Given the description of an element on the screen output the (x, y) to click on. 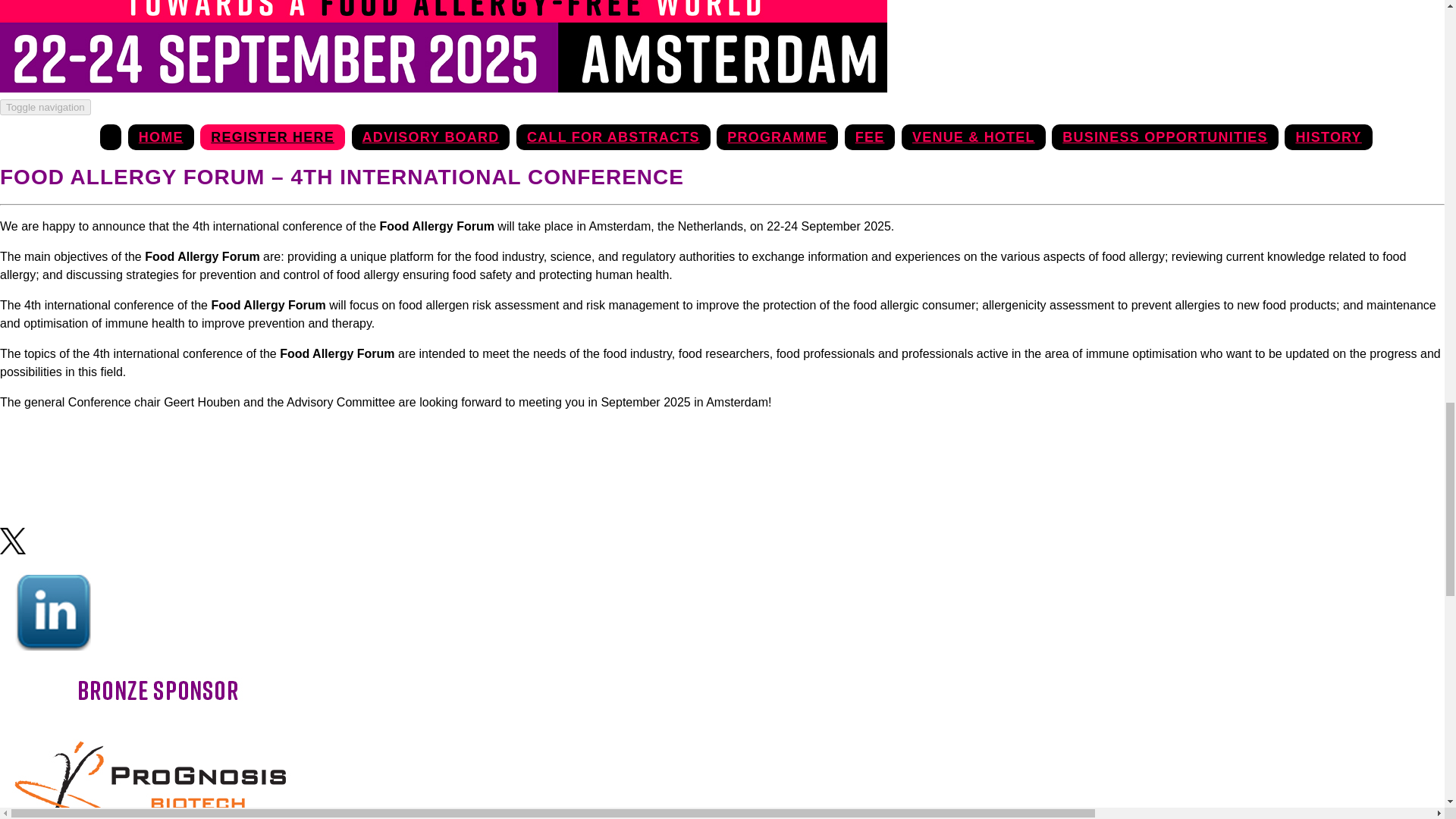
HOME (160, 136)
ADVISORY BOARD (431, 136)
REGISTER HERE (272, 136)
Toggle navigation (45, 107)
FEE (869, 136)
CALL FOR ABSTRACTS (613, 136)
PROGRAMME (777, 136)
HISTORY (1327, 136)
BUSINESS OPPORTUNITIES (1164, 136)
